Given the description of an element on the screen output the (x, y) to click on. 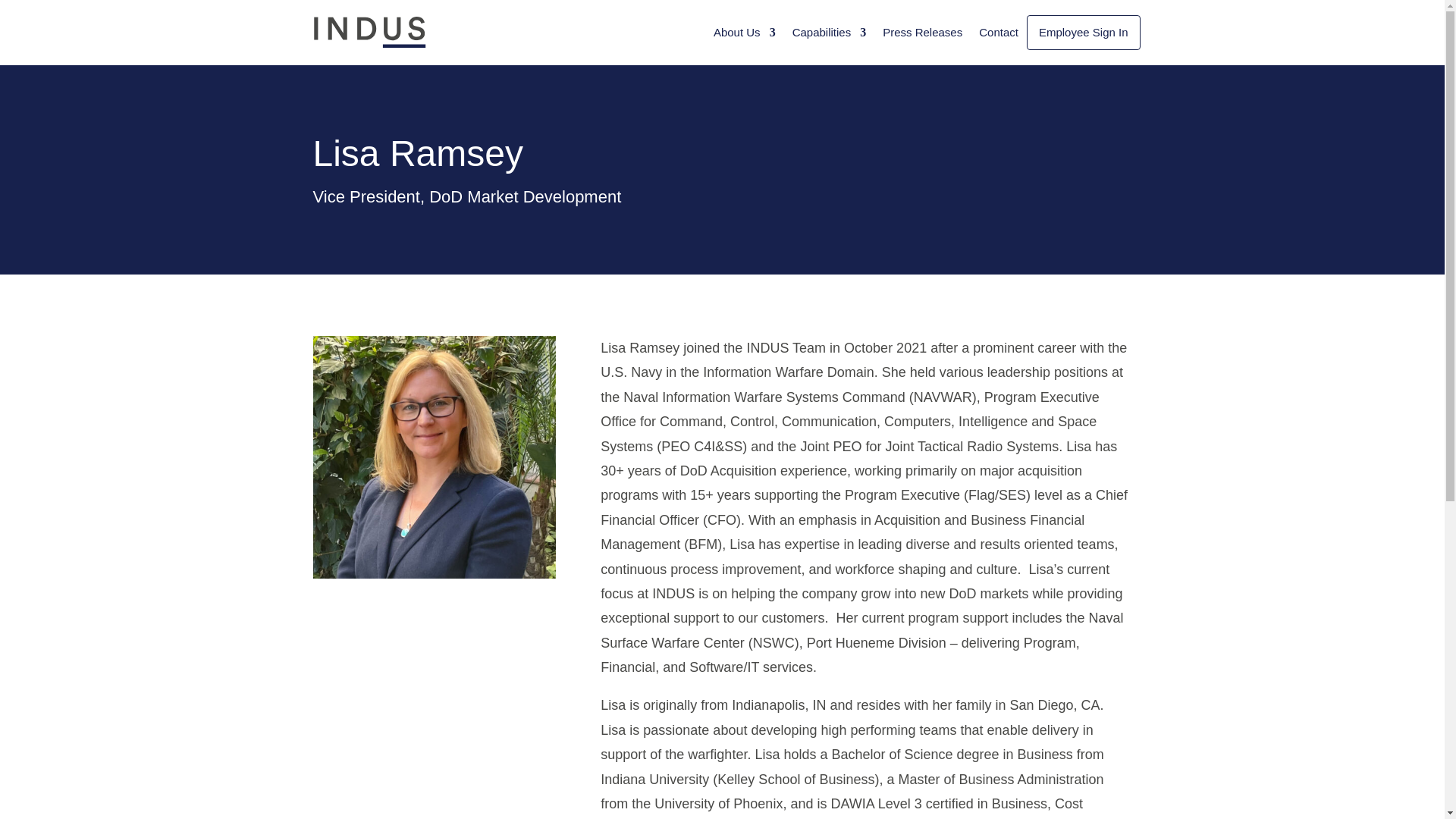
Press Releases (922, 32)
Capabilities (829, 32)
About Us (744, 32)
Contact (997, 32)
Employee Sign In (1083, 32)
